Given the description of an element on the screen output the (x, y) to click on. 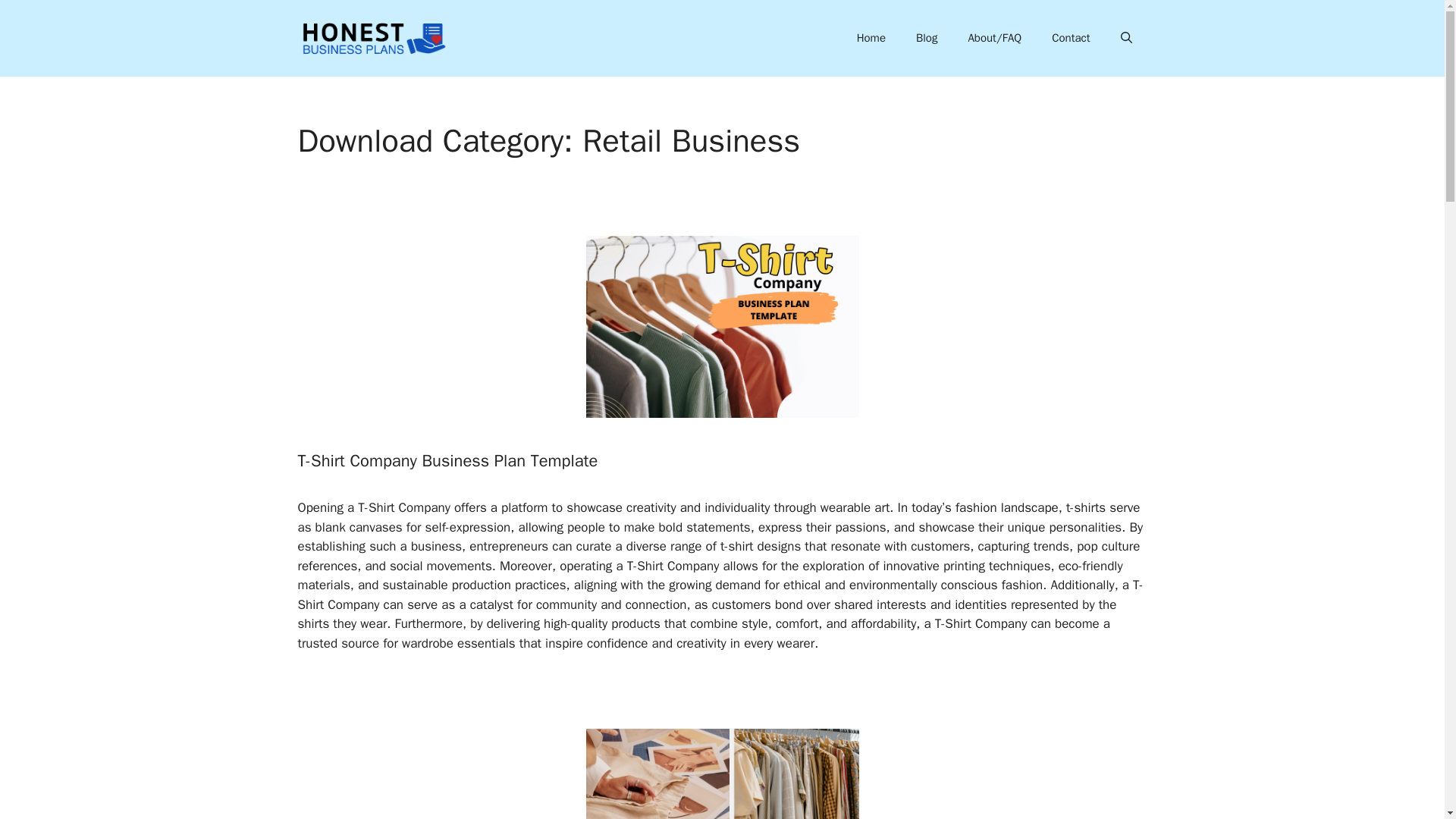
Blog (926, 37)
Contact (1070, 37)
T-Shirt Company Business Plan Template (446, 460)
Home (871, 37)
